Given the description of an element on the screen output the (x, y) to click on. 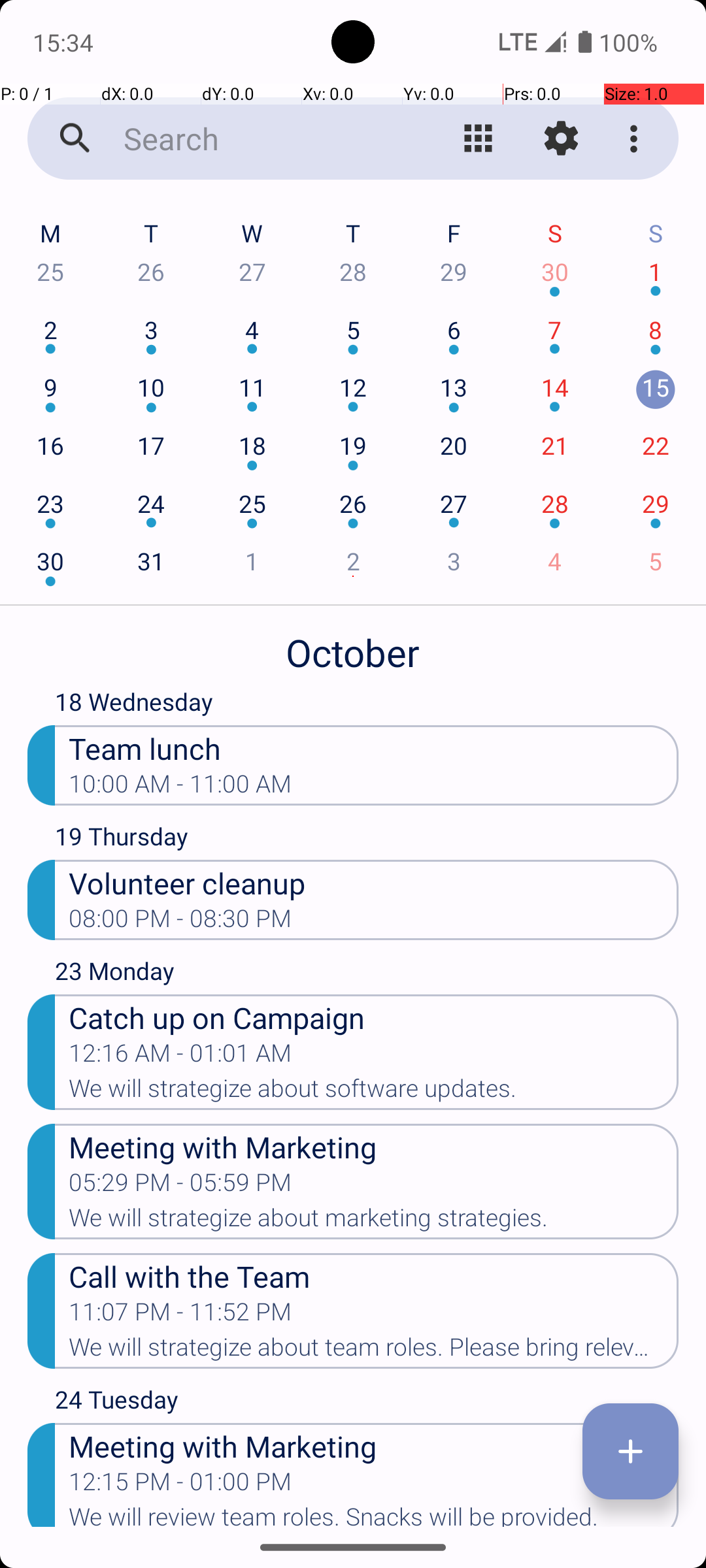
24 Tuesday Element type: android.widget.TextView (366, 1402)
Team lunch Element type: android.widget.TextView (373, 747)
10:00 AM - 11:00 AM Element type: android.widget.TextView (179, 787)
Volunteer cleanup Element type: android.widget.TextView (373, 881)
08:00 PM - 08:30 PM Element type: android.widget.TextView (179, 922)
12:16 AM - 01:01 AM Element type: android.widget.TextView (179, 1056)
We will strategize about software updates. Element type: android.widget.TextView (373, 1092)
05:29 PM - 05:59 PM Element type: android.widget.TextView (179, 1186)
We will strategize about marketing strategies. Element type: android.widget.TextView (373, 1221)
11:07 PM - 11:52 PM Element type: android.widget.TextView (179, 1315)
We will strategize about team roles. Please bring relevant documents. Element type: android.widget.TextView (373, 1350)
12:15 PM - 01:00 PM Element type: android.widget.TextView (179, 1485)
We will review team roles. Snacks will be provided. Element type: android.widget.TextView (373, 1514)
